Given the description of an element on the screen output the (x, y) to click on. 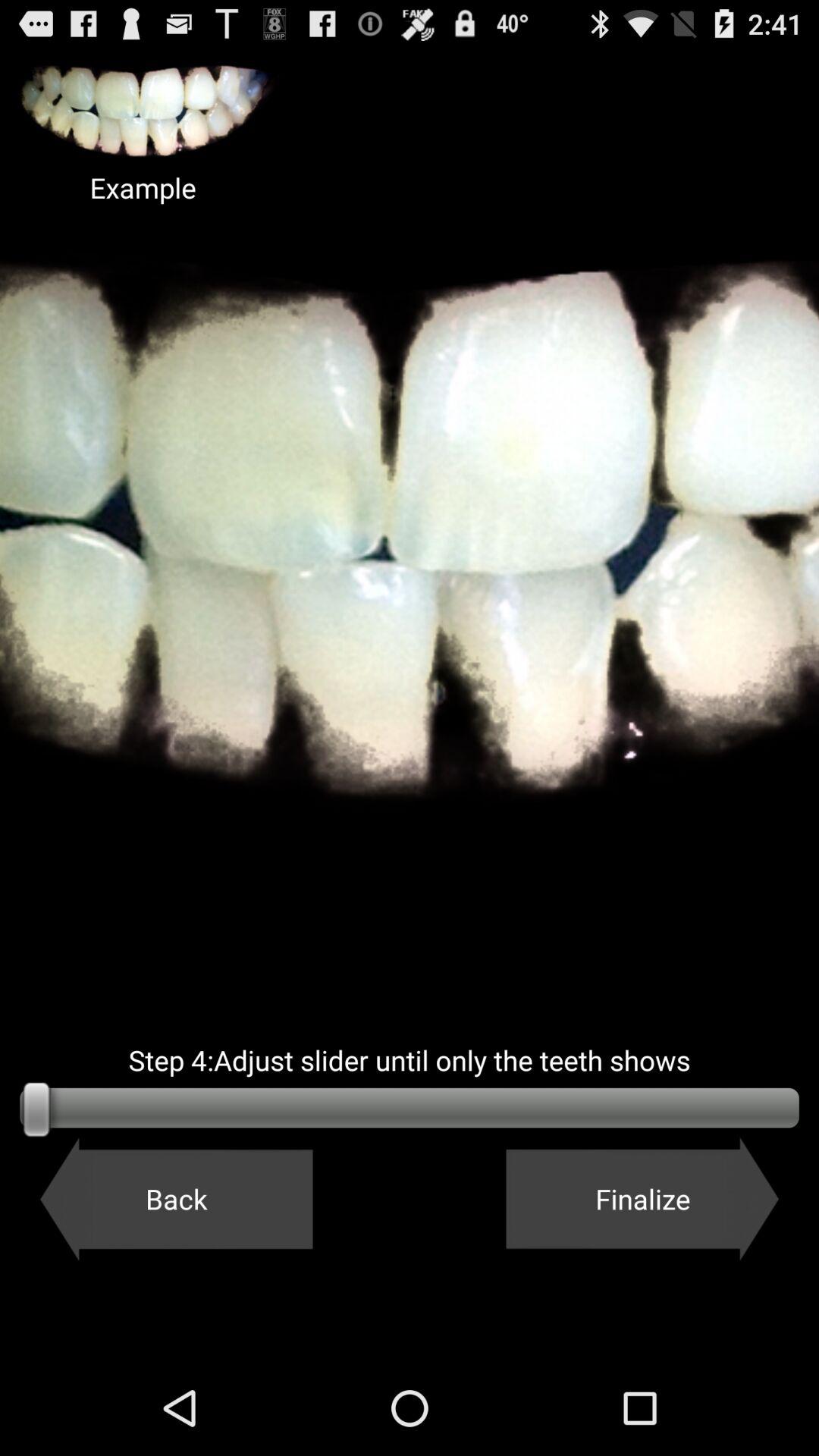
choose item to the left of finalize button (175, 1198)
